Given the description of an element on the screen output the (x, y) to click on. 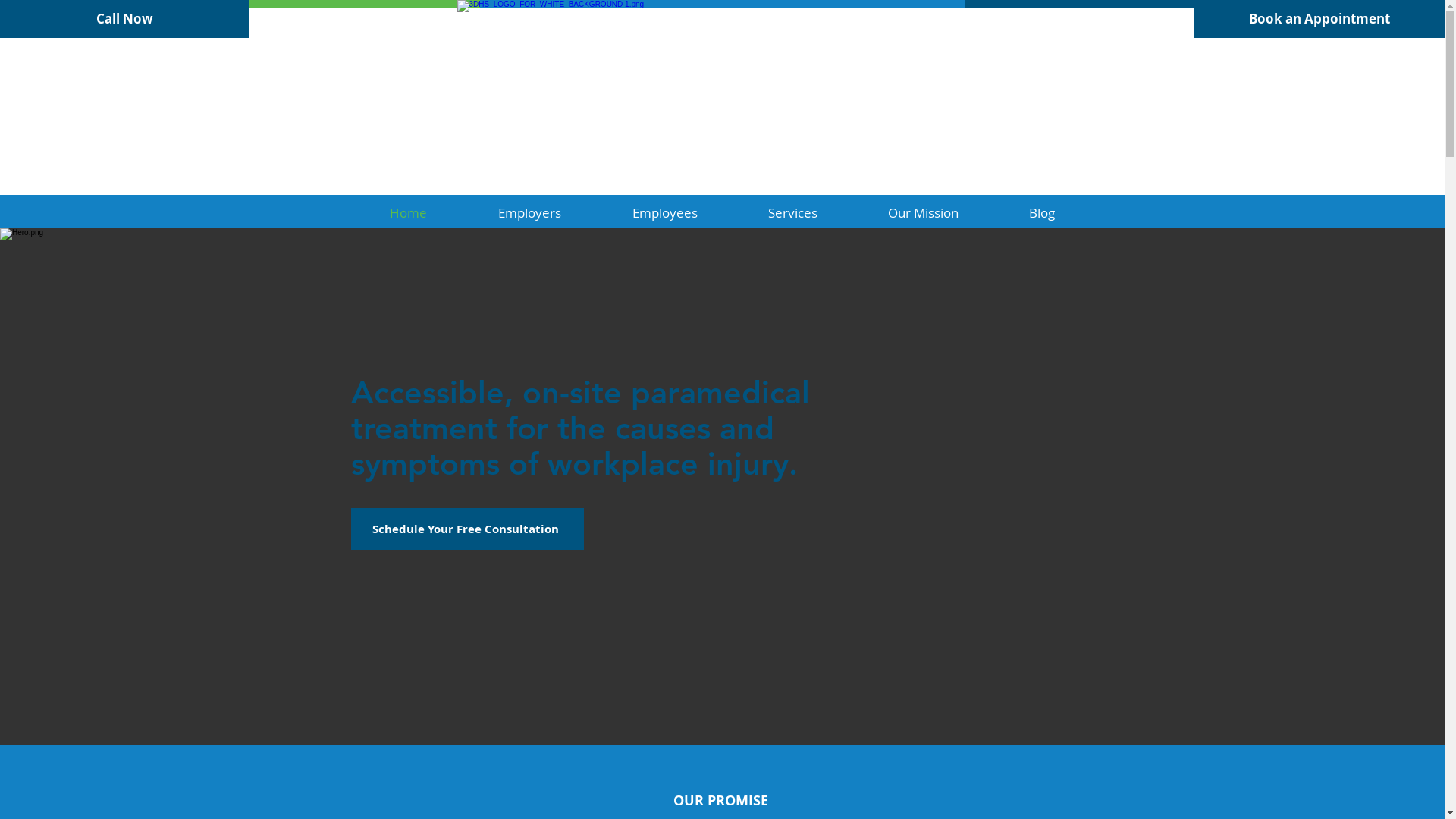
Schedule Your Free Consultation Element type: text (466, 528)
Blog Element type: text (1041, 212)
Book an Appointment Element type: text (1319, 18)
Home Element type: text (407, 212)
Employees Element type: text (664, 212)
Our Mission Element type: text (922, 212)
Call Now Element type: text (124, 18)
Employers Element type: text (529, 212)
